Given the description of an element on the screen output the (x, y) to click on. 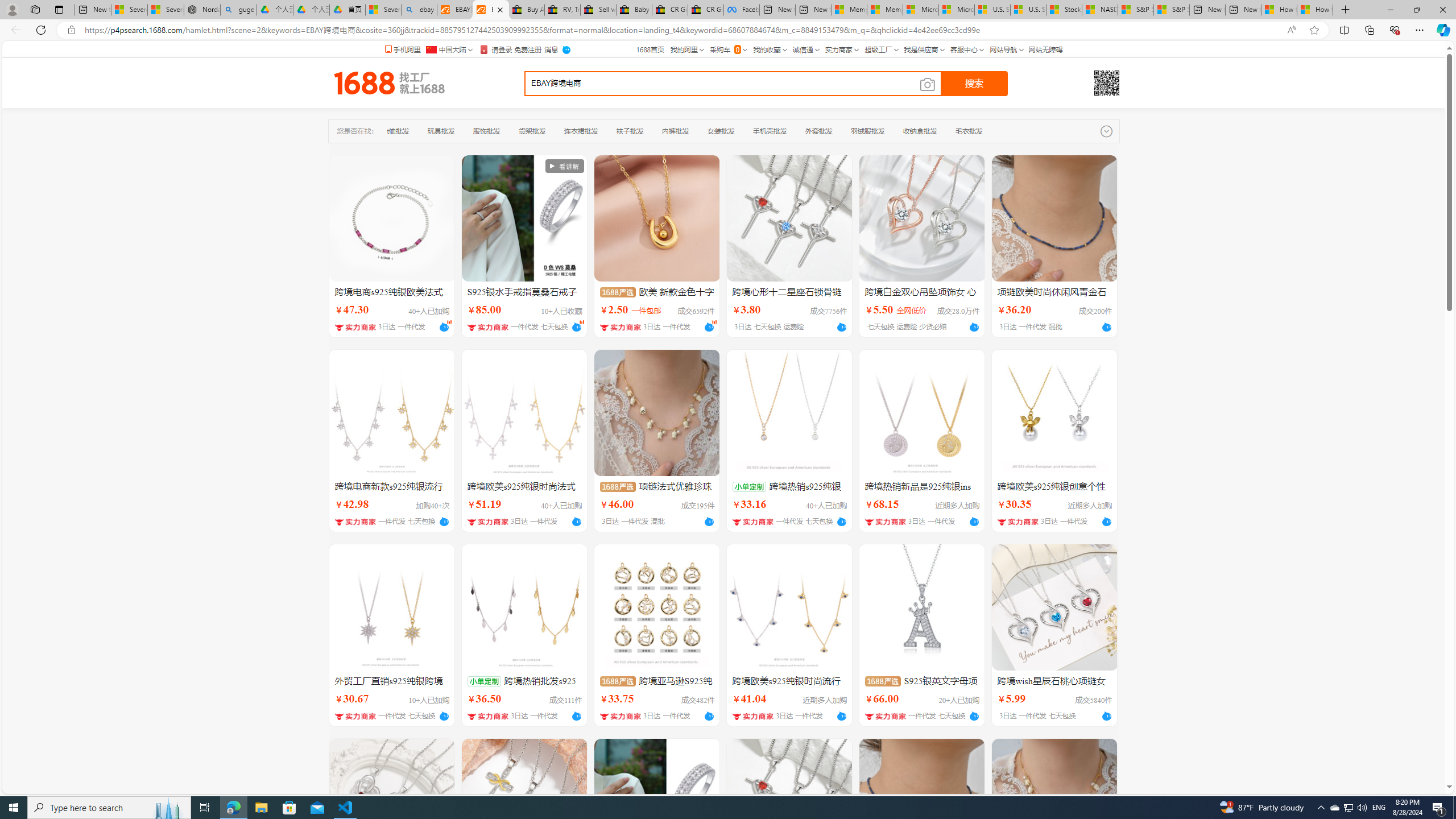
Buy Auto Parts & Accessories | eBay (525, 9)
